Given the description of an element on the screen output the (x, y) to click on. 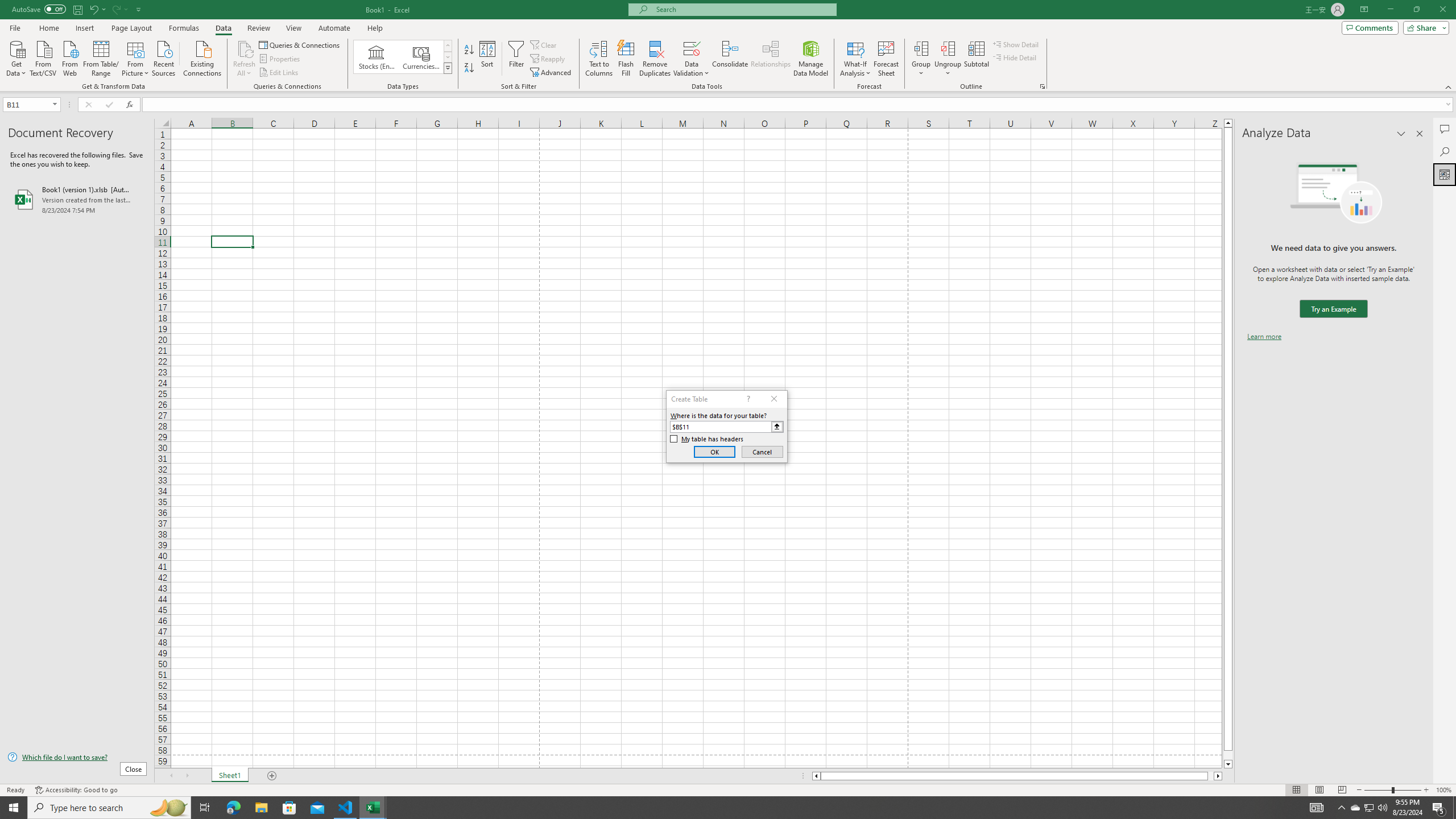
Which file do I want to save? (77, 757)
Properties (280, 58)
Analyze Data (1444, 173)
Currencies (English) (420, 56)
